Given the description of an element on the screen output the (x, y) to click on. 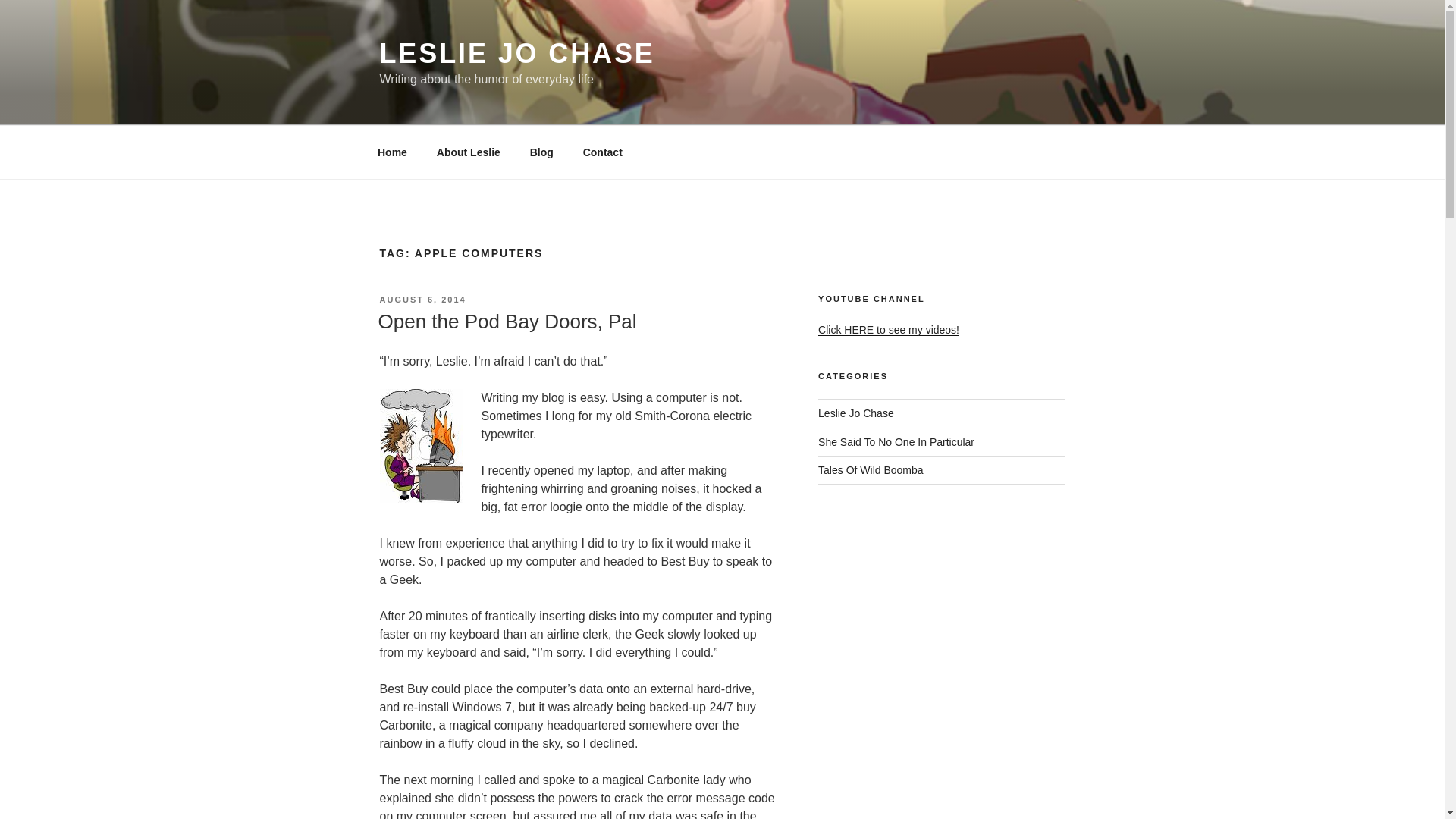
AUGUST 6, 2014 (421, 298)
She Said To No One In Particular (896, 441)
Blog (541, 151)
Click HERE to see my videos! (888, 329)
Home (392, 151)
Contact (601, 151)
Tales Of Wild Boomba (870, 469)
About Leslie (468, 151)
Leslie Jo Chase (855, 413)
LESLIE JO CHASE (515, 52)
Open the Pod Bay Doors, Pal (506, 321)
